Given the description of an element on the screen output the (x, y) to click on. 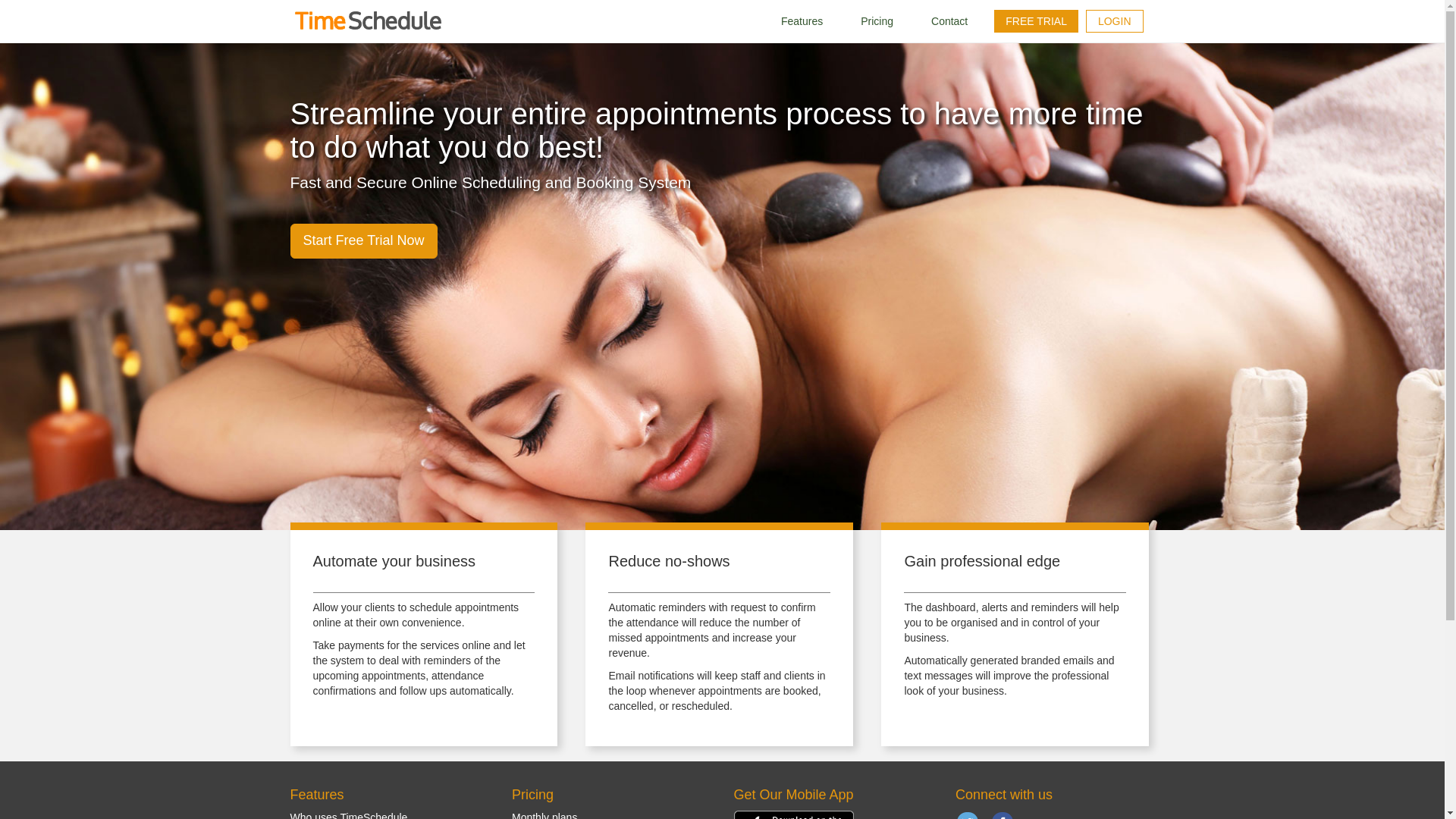
LOGIN (1114, 20)
Contact (949, 21)
Reduce no-shows (668, 560)
Who uses TimeSchedule (348, 815)
Start Free Trial Now (362, 240)
FREE TRIAL (1036, 20)
Gain professional edge (981, 560)
Features (801, 21)
Automate your business (394, 560)
Monthly plans (544, 815)
